Given the description of an element on the screen output the (x, y) to click on. 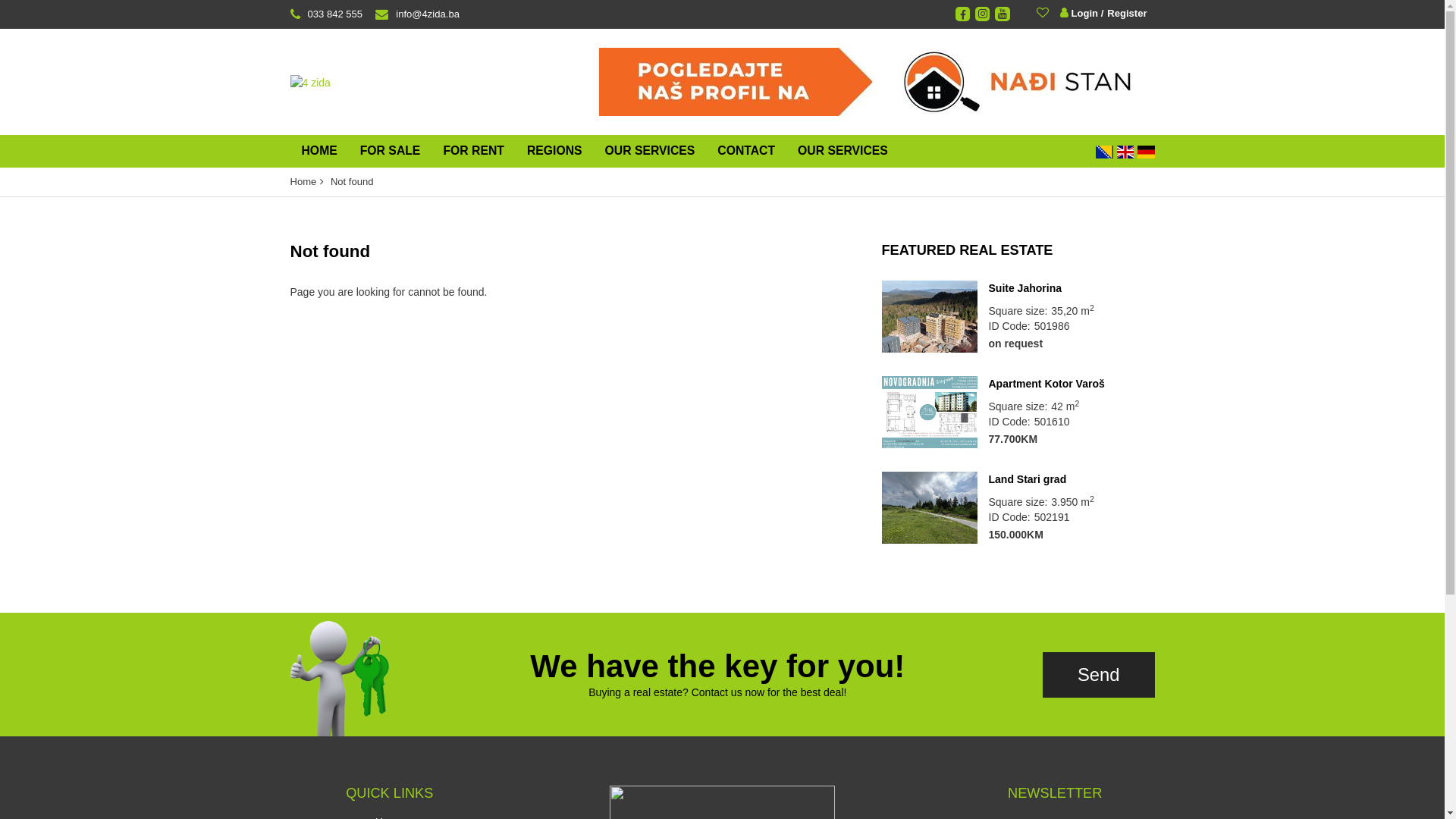
Login Element type: text (1079, 13)
Facebook Element type: hover (962, 13)
OUR SERVICES Element type: text (842, 150)
Suite Jahorina Element type: text (1071, 287)
My favorites Element type: hover (1044, 11)
033 842 555 Element type: text (325, 13)
FOR RENT Element type: text (473, 150)
Land Stari grad Element type: hover (928, 507)
YouTube Element type: hover (1001, 13)
Register Element type: text (1124, 13)
Land Stari grad Element type: text (1071, 478)
Not found Element type: text (351, 182)
Home Element type: text (302, 182)
Instagram Element type: hover (982, 13)
FOR SALE Element type: text (390, 150)
Bosanski Element type: hover (1103, 151)
OUR SERVICES Element type: text (649, 150)
Deutsch Element type: hover (1145, 151)
English Element type: hover (1125, 151)
Return to home page Element type: hover (309, 82)
Suite Jahorina Element type: hover (928, 316)
CONTACT Element type: text (746, 150)
HOME Element type: text (318, 150)
info@4zida.ba Element type: text (413, 13)
REGIONS Element type: text (554, 150)
